Given the description of an element on the screen output the (x, y) to click on. 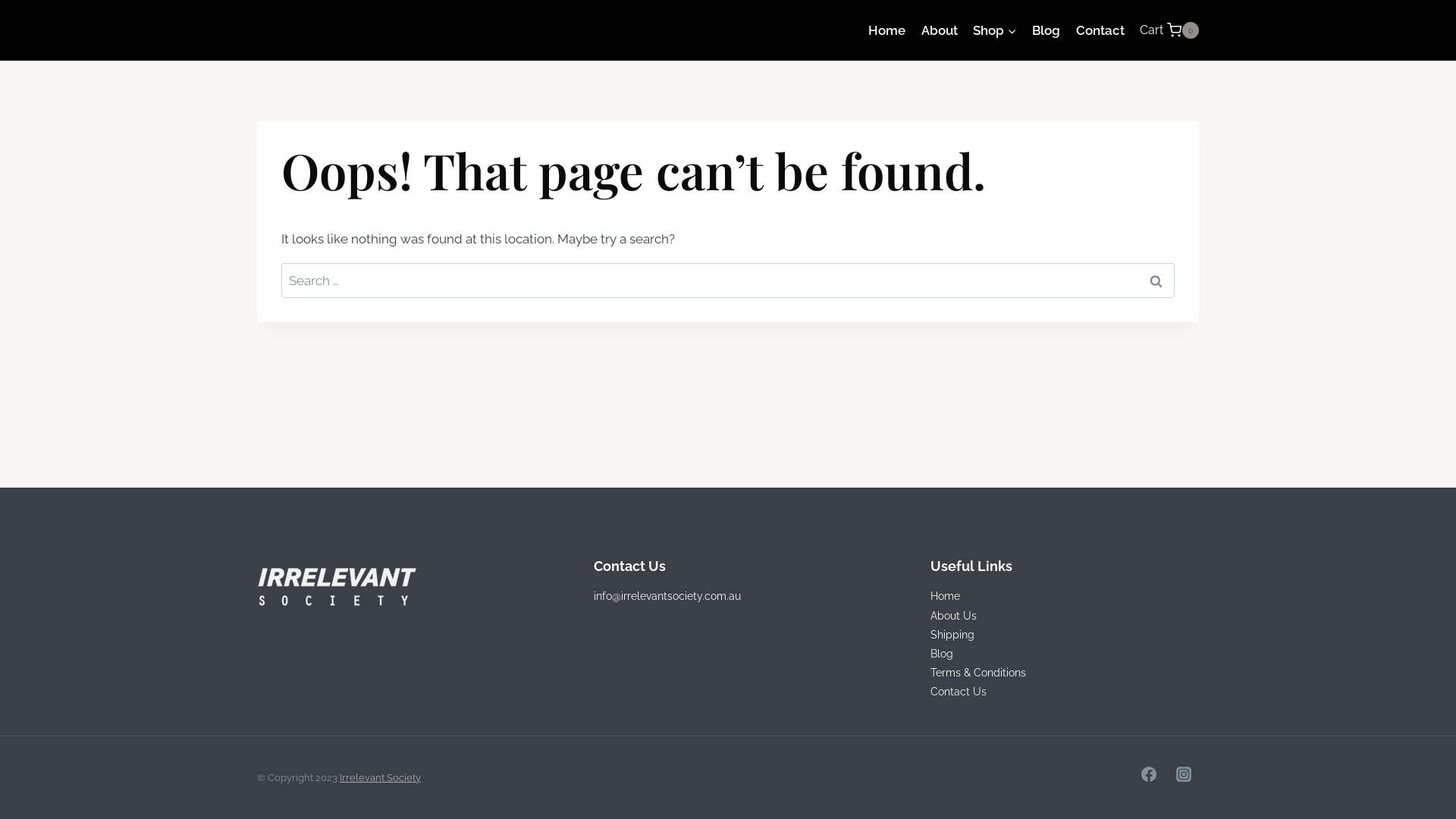
Search Element type: text (1155, 280)
Contact Us Element type: text (958, 691)
Contact Element type: text (1100, 30)
About Us Element type: text (953, 615)
About Element type: text (938, 30)
Blog Element type: text (1045, 30)
Home Element type: text (945, 595)
Terms & Conditions Element type: text (978, 672)
Shipping Element type: text (952, 634)
Blog Element type: text (941, 653)
Home Element type: text (886, 30)
Cart
0 Element type: text (1168, 30)
Shop Element type: text (994, 30)
Irrelevant Society Element type: text (379, 777)
